Given the description of an element on the screen output the (x, y) to click on. 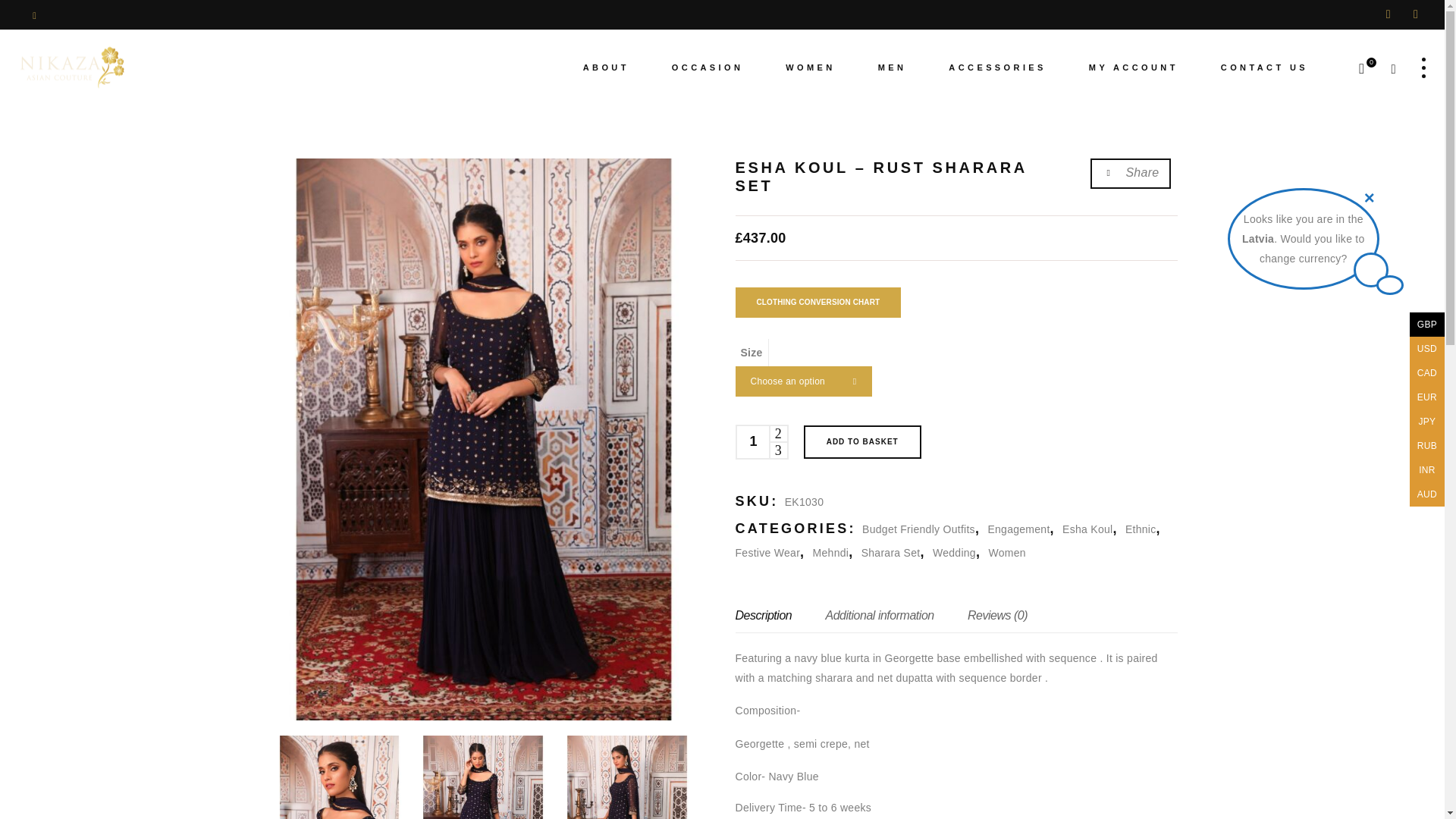
1 (752, 442)
Choose an option (803, 381)
ABOUT (606, 67)
1A7A6638 final (338, 777)
1A7A6644 final (626, 777)
WOMEN (810, 67)
Qty (752, 442)
OCCASION (707, 67)
1A7A6635 final (482, 777)
U (940, 414)
